Given the description of an element on the screen output the (x, y) to click on. 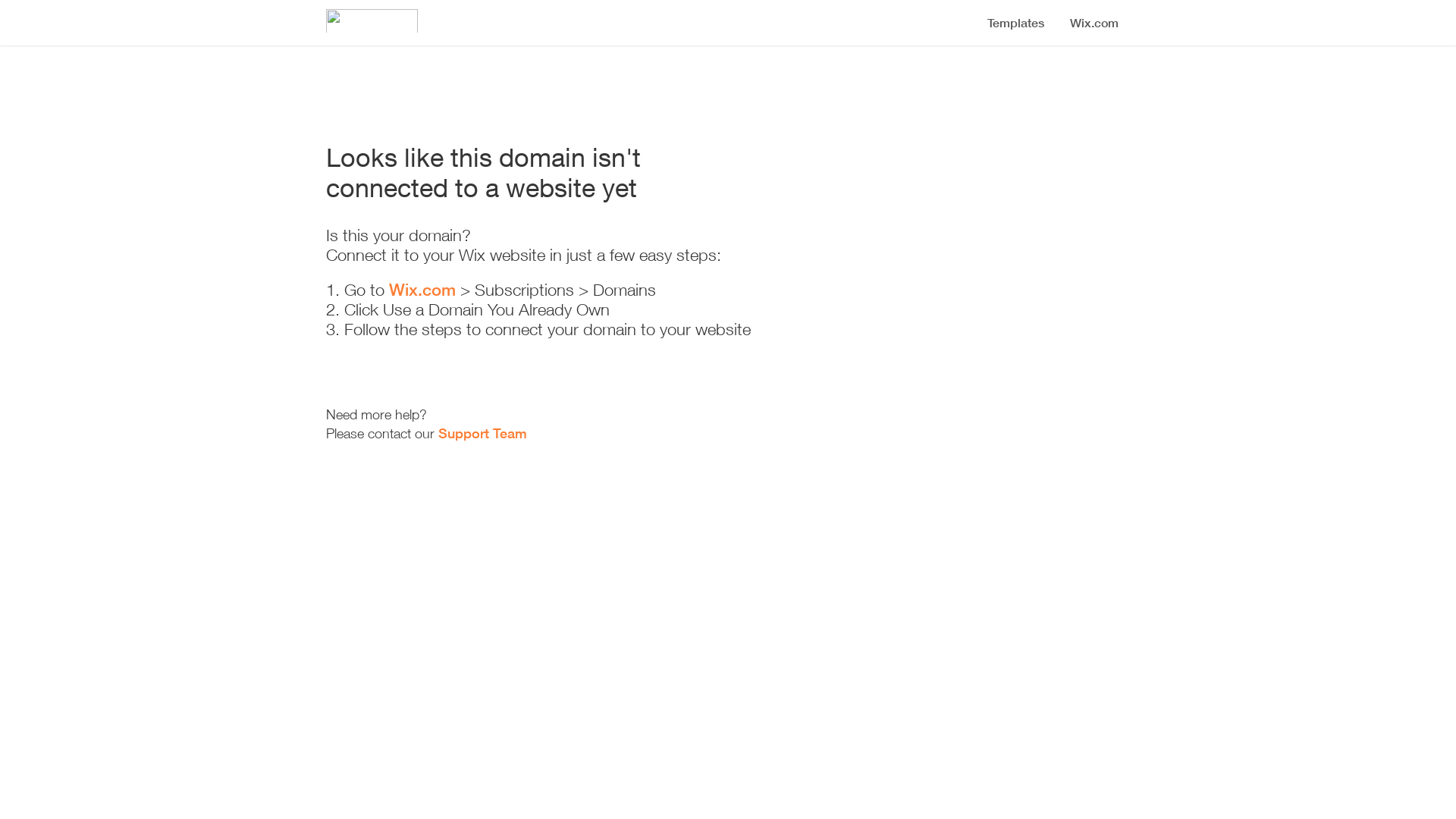
Support Team Element type: text (482, 432)
Wix.com Element type: text (422, 289)
